Given the description of an element on the screen output the (x, y) to click on. 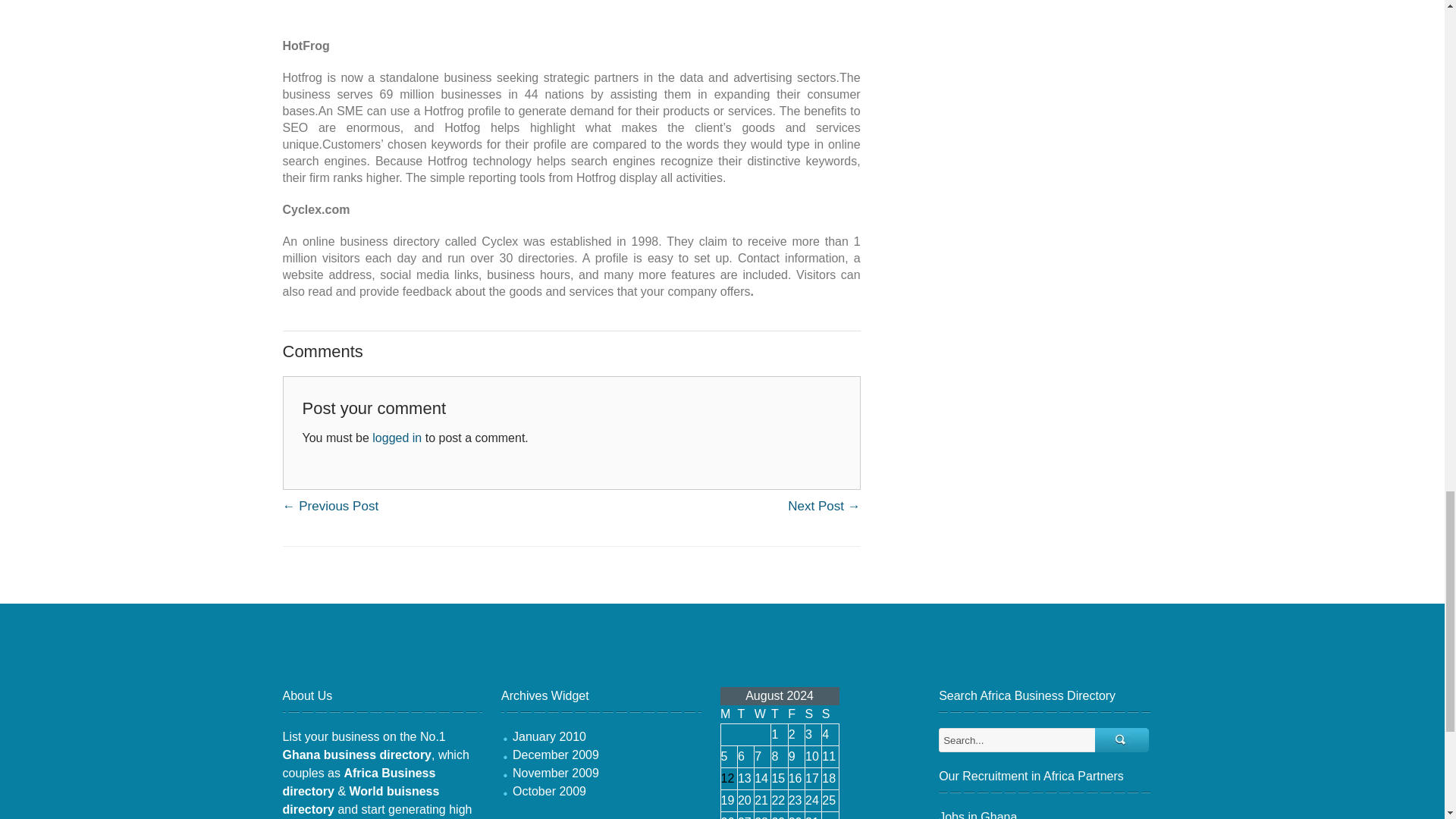
Search... (1122, 740)
Search... (1122, 740)
December 2009 (555, 754)
Jobs in Ghana (977, 814)
Advertisement (722, 656)
November 2009 (555, 772)
January 2010 (549, 736)
Search... (1018, 740)
October 2009 (549, 790)
logged in (397, 437)
